Given the description of an element on the screen output the (x, y) to click on. 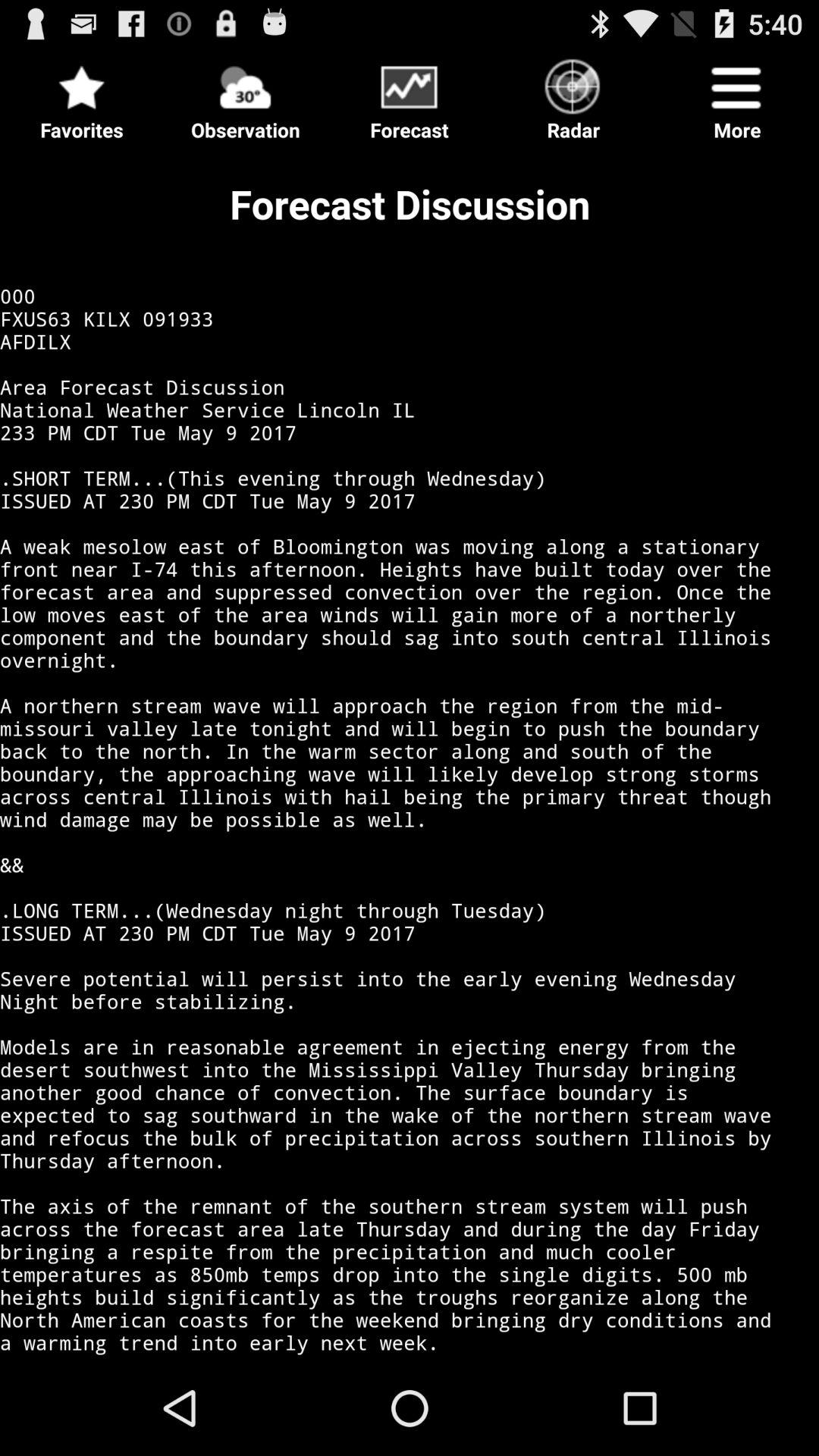
forecast discussion (409, 753)
